Given the description of an element on the screen output the (x, y) to click on. 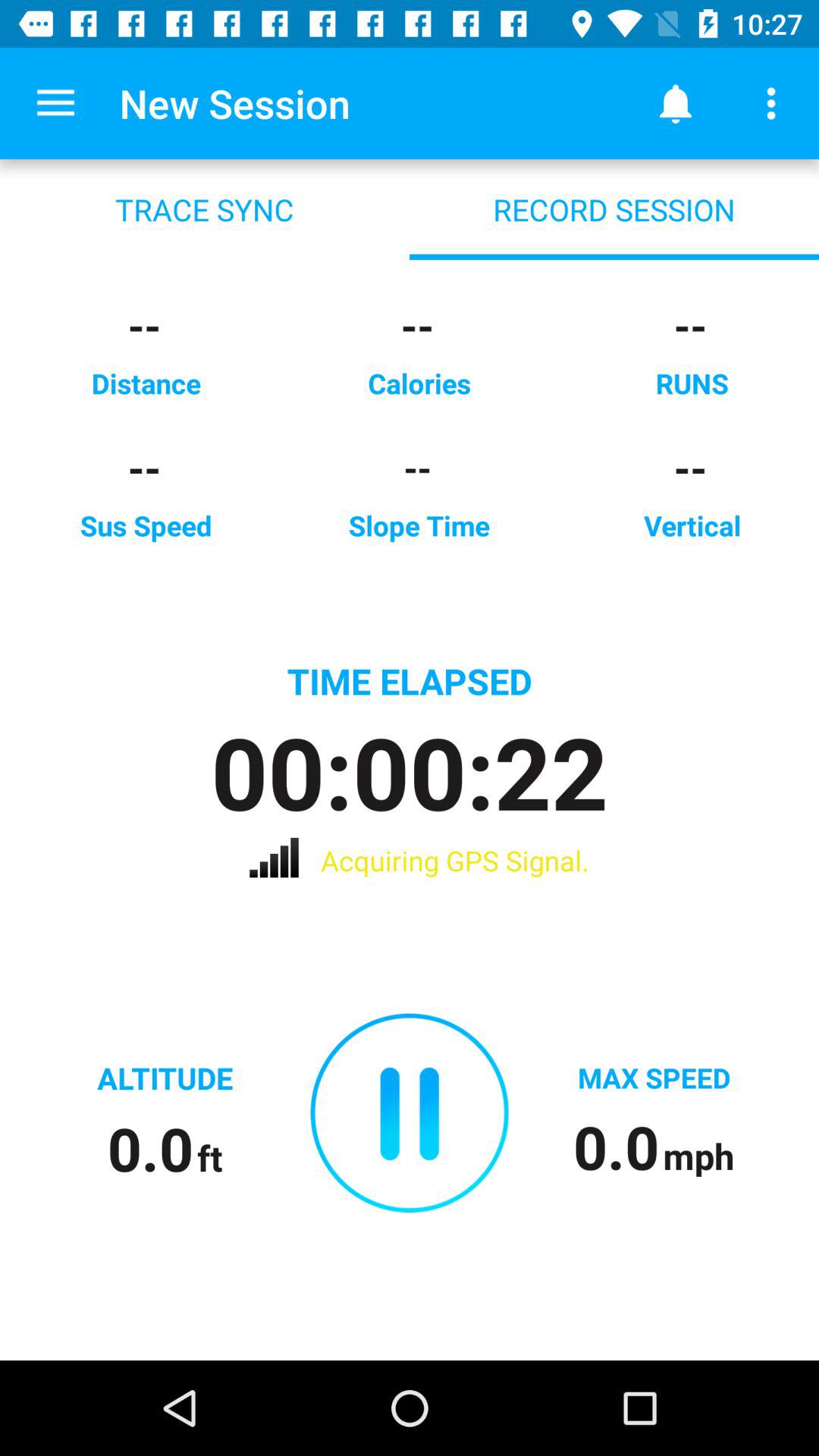
select item next to the new session icon (55, 103)
